Given the description of an element on the screen output the (x, y) to click on. 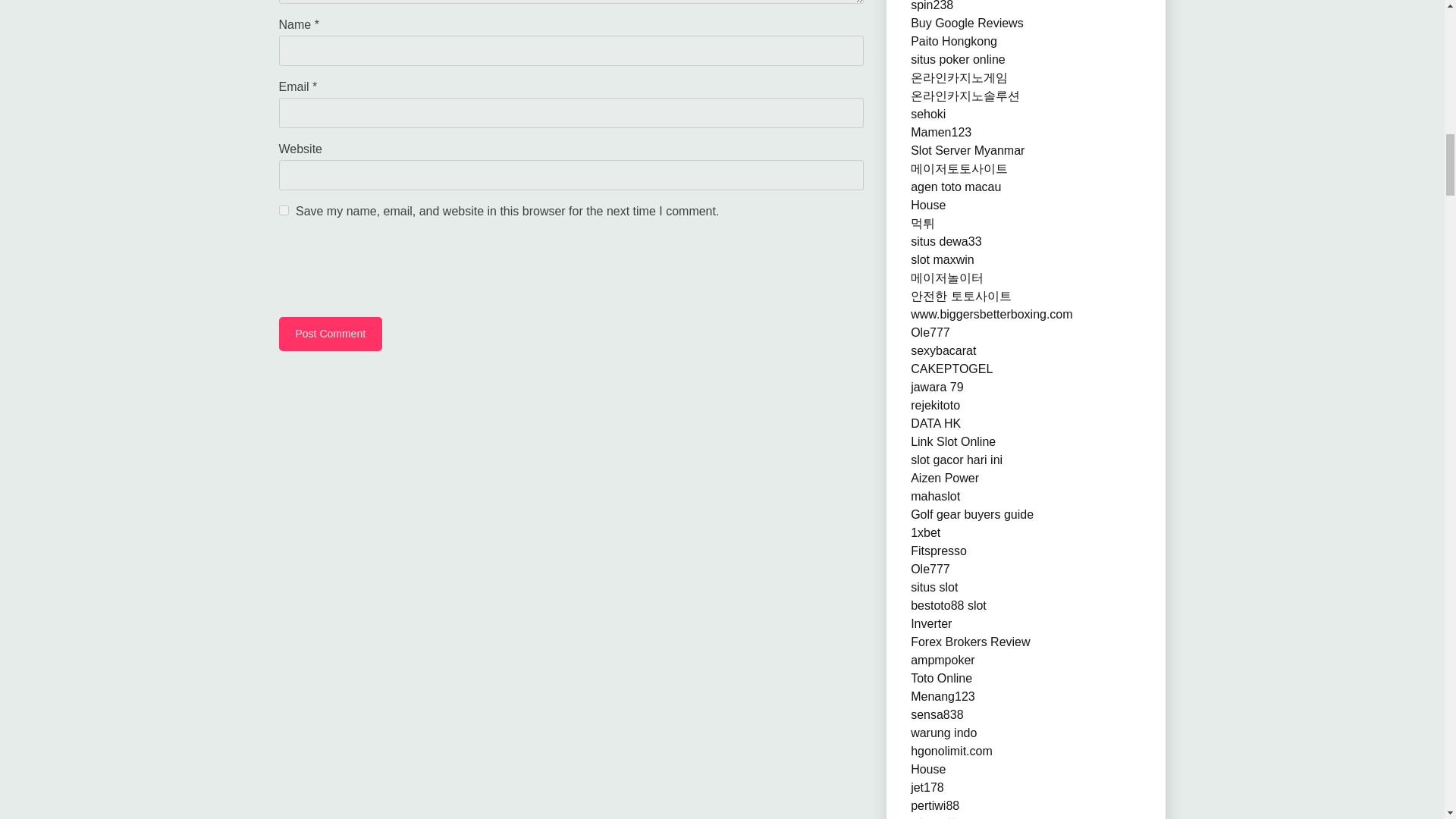
Post Comment (330, 333)
reCAPTCHA (394, 270)
yes (283, 210)
Post Comment (330, 333)
1xbet (925, 532)
